Given the description of an element on the screen output the (x, y) to click on. 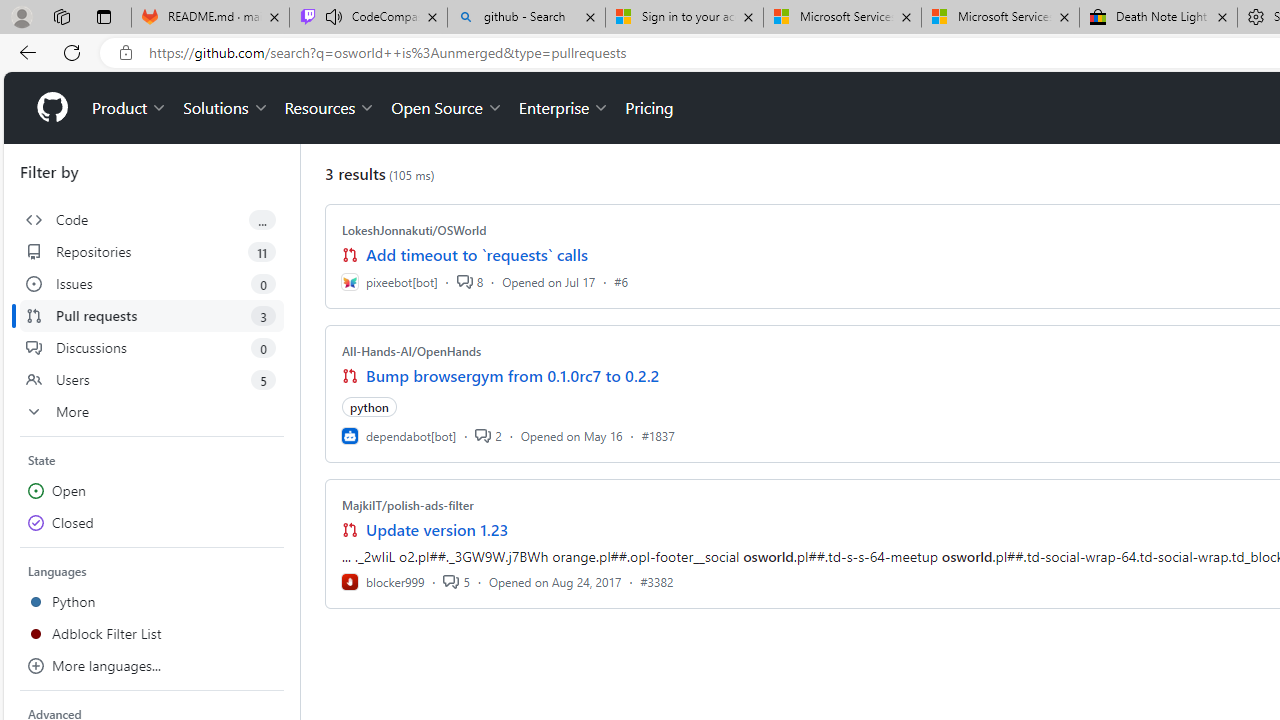
LokeshJonnakuti/OSWorld (413, 230)
Enterprise (563, 107)
8 (469, 281)
Open Source (446, 107)
Add timeout to `requests` calls (476, 255)
dependabot[bot] (398, 435)
#1837 (657, 435)
